Given the description of an element on the screen output the (x, y) to click on. 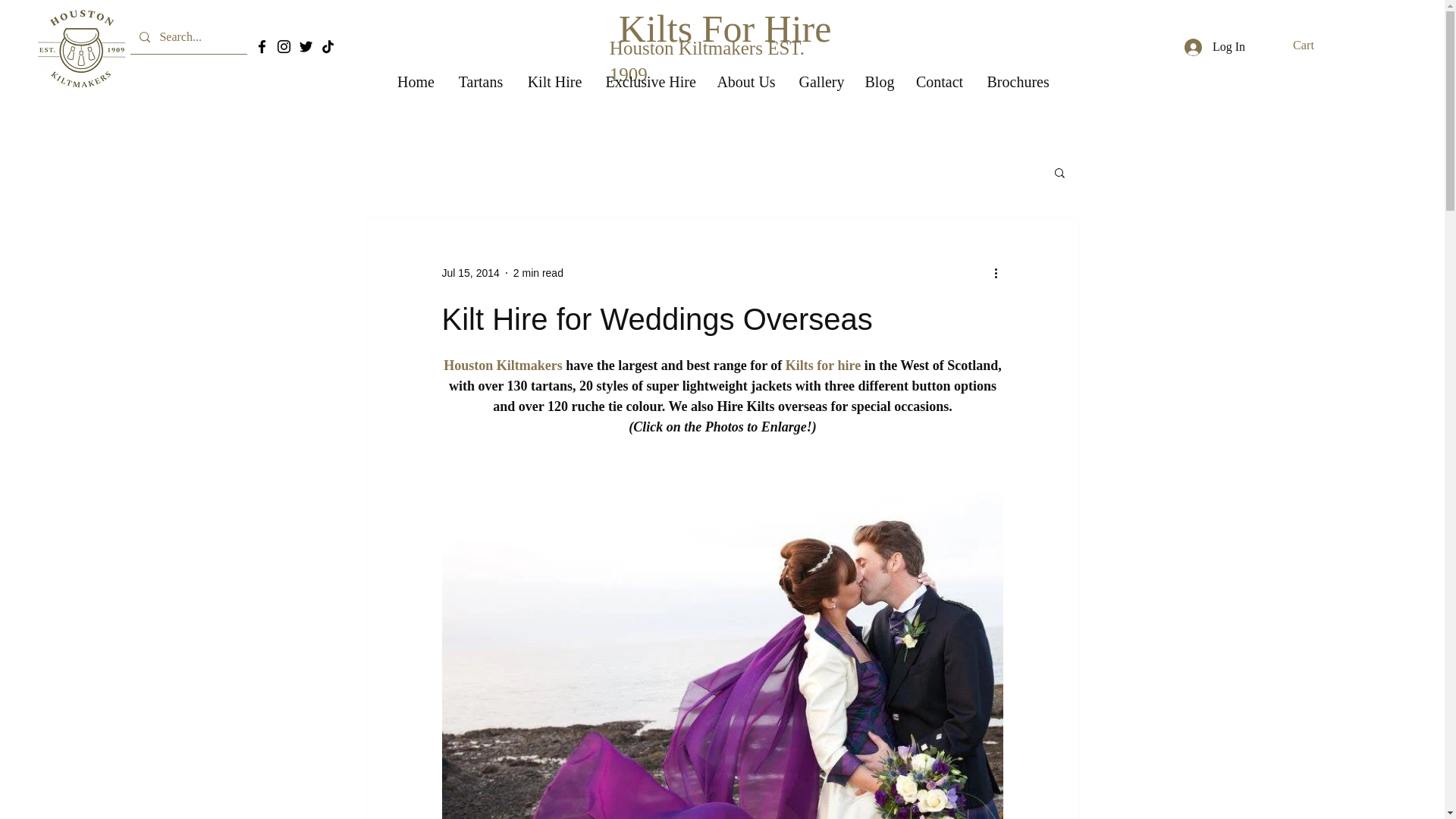
Home (415, 81)
Kilts for hire (822, 365)
2 min read (538, 272)
Jul 15, 2014 (470, 272)
Cart (1313, 44)
Kilt Hire (554, 81)
Exclusive Hire (649, 81)
Houston Kiltmakers EST. 1909 (707, 61)
Houston Kiltmakers (503, 365)
Cart (1313, 44)
Kilts For Hire (724, 28)
Blog (878, 81)
Contact (939, 81)
Log In (1214, 46)
Tartans (480, 81)
